Given the description of an element on the screen output the (x, y) to click on. 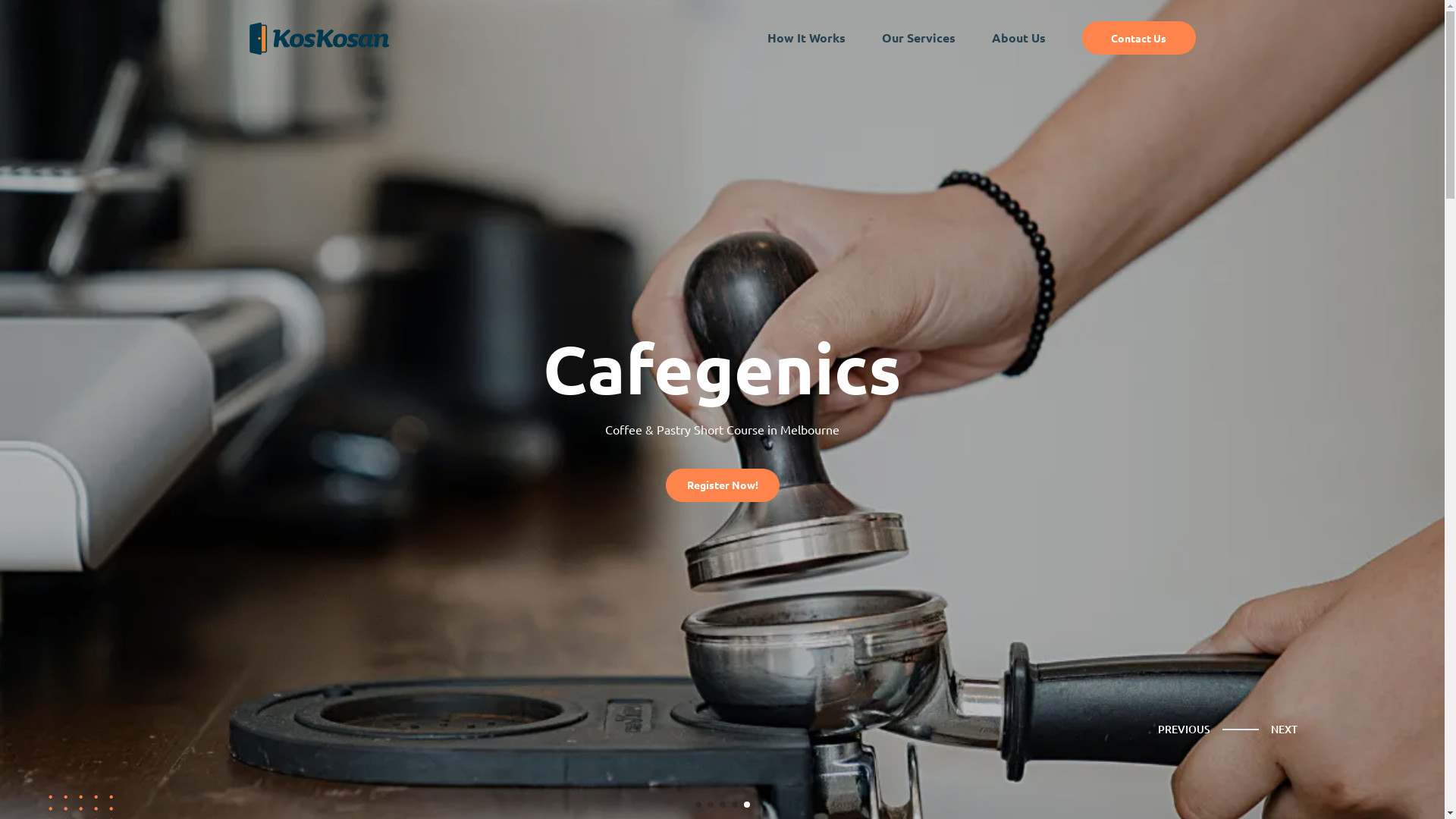
Register Now! Element type: text (722, 485)
How It Works Element type: text (806, 37)
Contact Us Element type: text (1138, 37)
Our Services Element type: text (917, 37)
About Us Element type: text (1018, 37)
Register Now! Element type: text (722, 482)
